Given the description of an element on the screen output the (x, y) to click on. 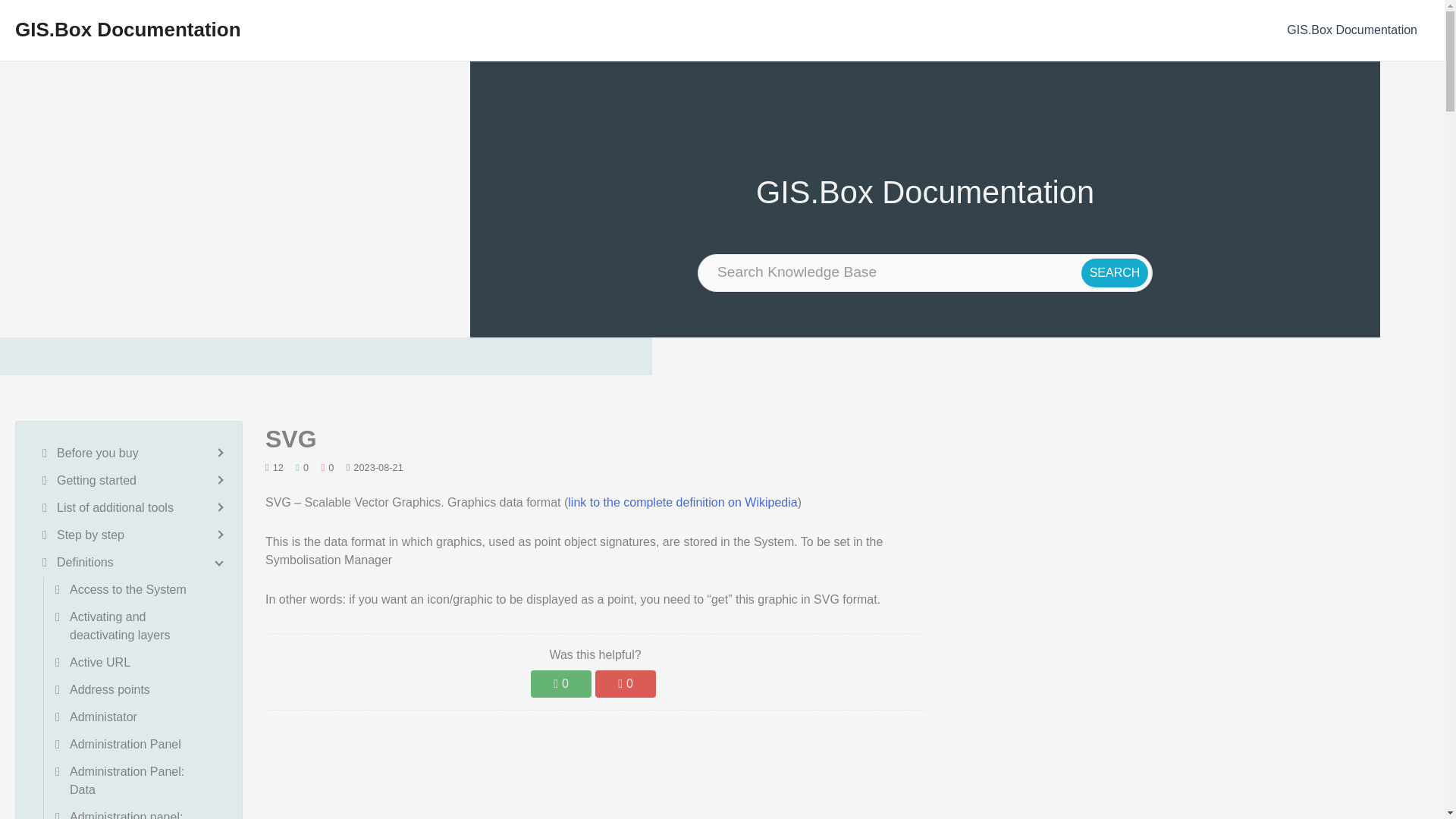
Search (1114, 272)
0 (625, 683)
link to the complete definition on Wikipedia (681, 502)
GIS.Box Documentation (127, 29)
Search (1114, 272)
GIS.Box Documentation (1352, 30)
0 (561, 683)
